Given the description of an element on the screen output the (x, y) to click on. 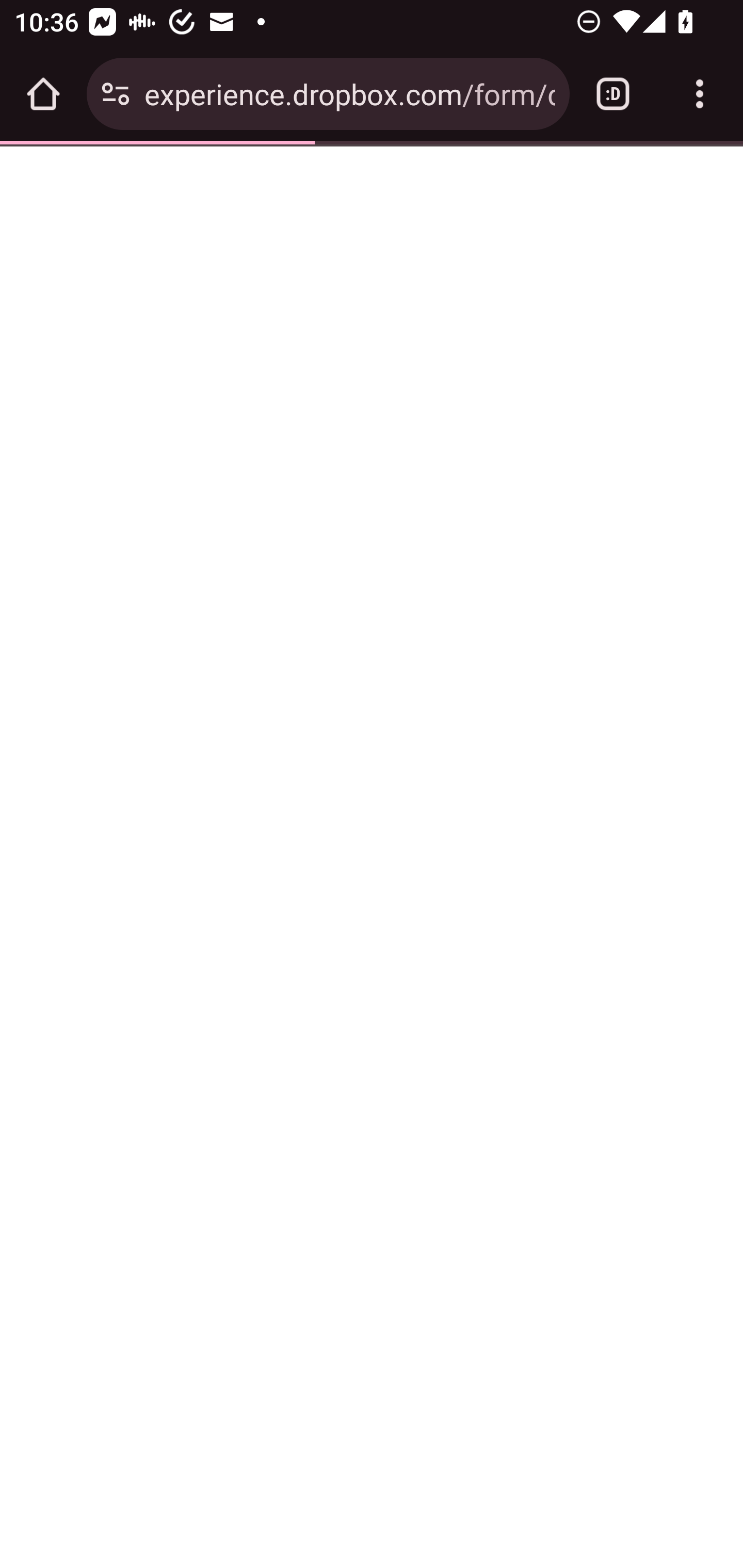
Open the home page (43, 93)
Connection is secure (115, 93)
Switch or close tabs (612, 93)
Customize and control Google Chrome (699, 93)
